Given the description of an element on the screen output the (x, y) to click on. 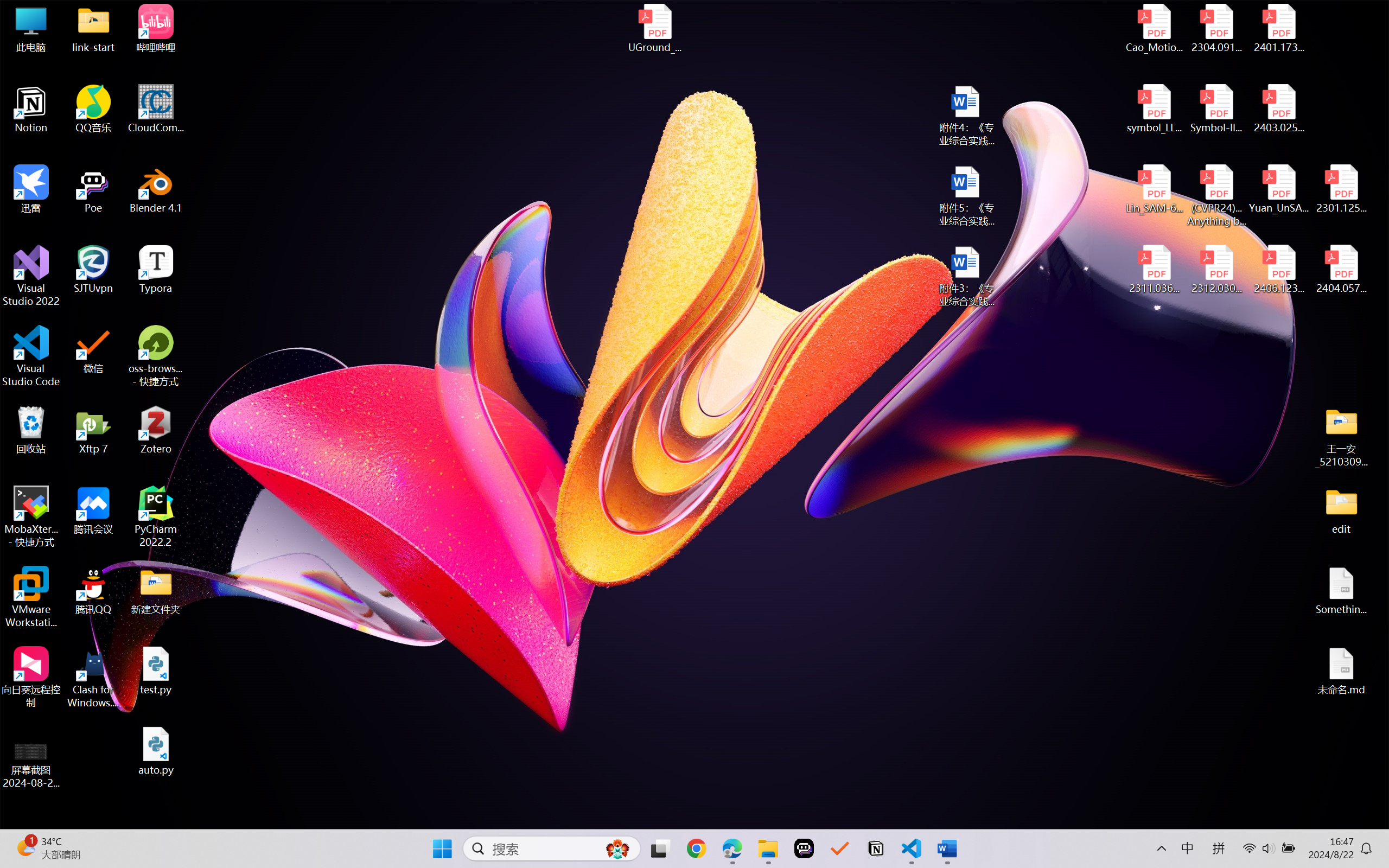
Pen: Black, 0.5 mm (152, 94)
Class: NetUIScrollBar (1382, 477)
UTF-8 (770, 816)
